Given the description of an element on the screen output the (x, y) to click on. 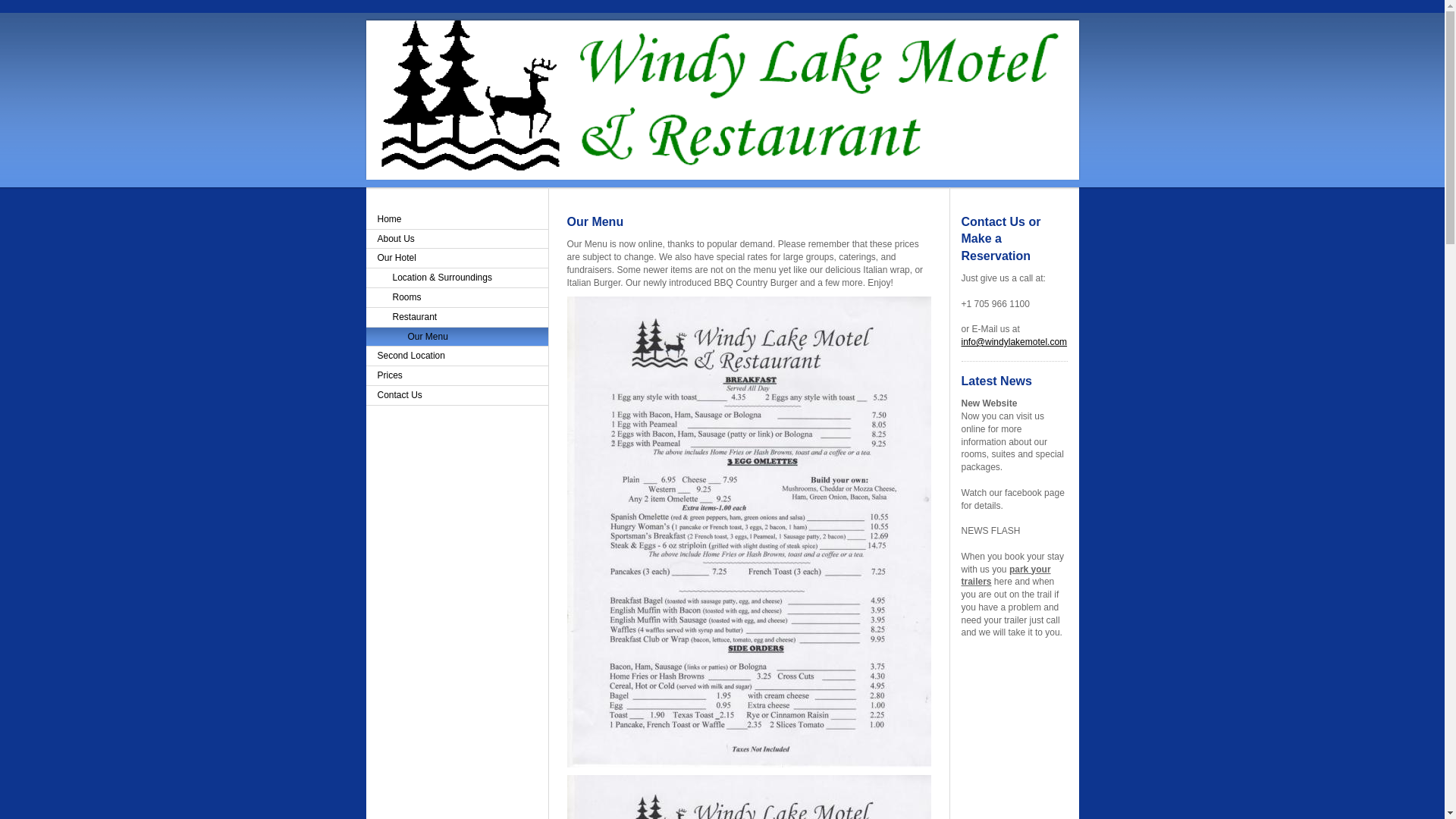
Contact Us (456, 395)
About Us (456, 239)
Home (456, 219)
Our Menu (456, 337)
Second Location (456, 356)
Rooms (456, 297)
Our Hotel (456, 258)
Prices (456, 375)
Restaurant (456, 317)
